Given the description of an element on the screen output the (x, y) to click on. 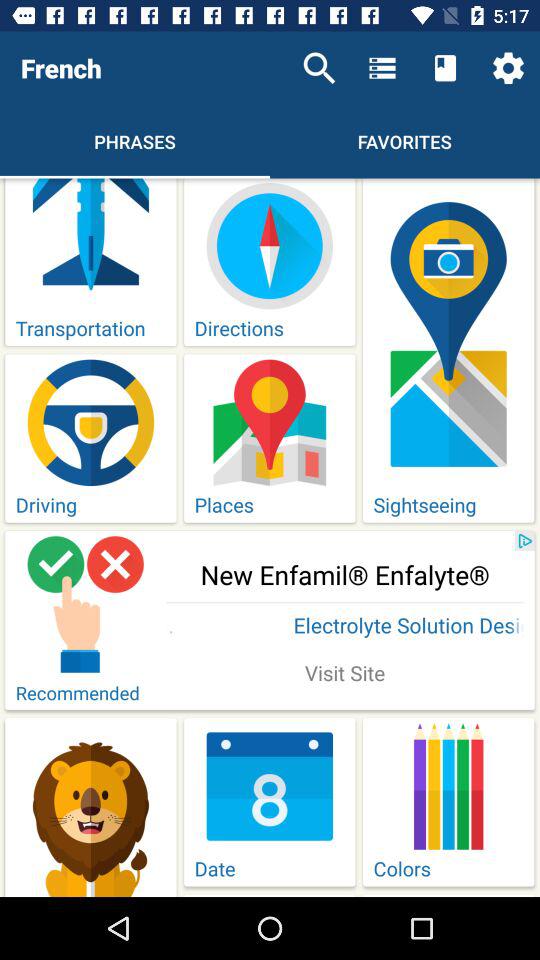
choose item above the favorites (381, 67)
